Given the description of an element on the screen output the (x, y) to click on. 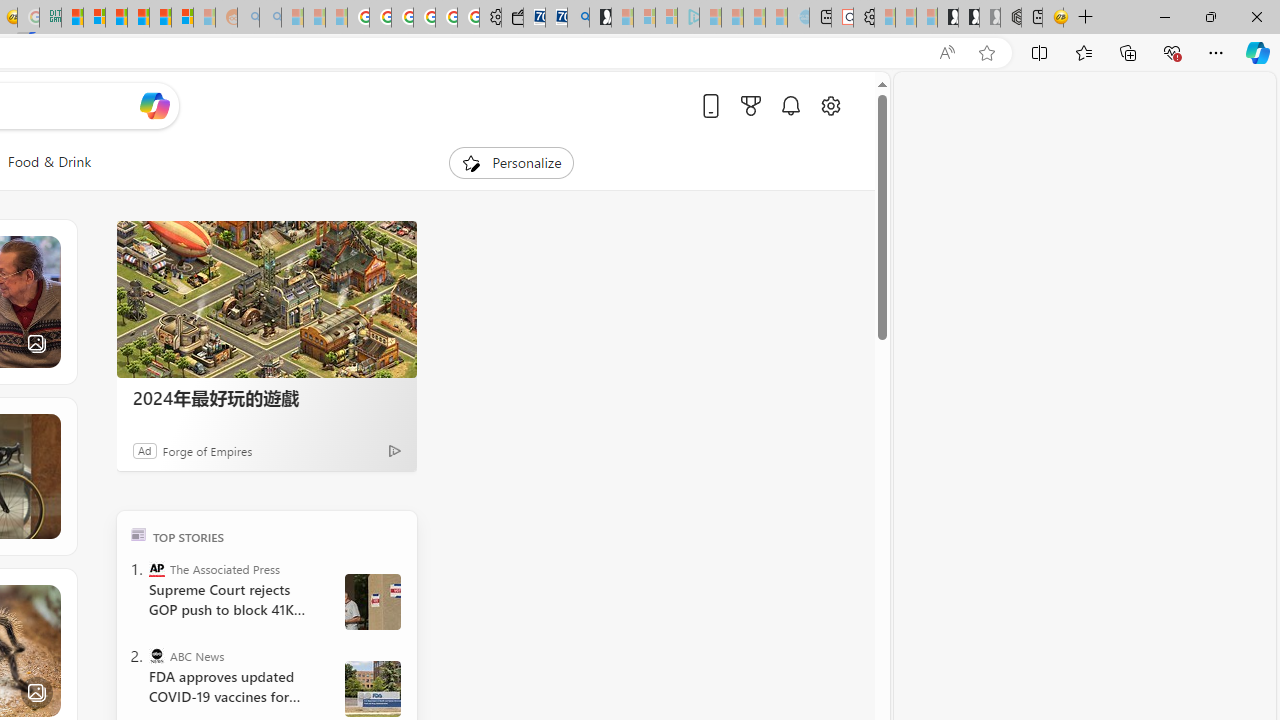
The Associated Press (156, 568)
TOP (138, 534)
Bing Real Estate - Home sales and rental listings (578, 17)
Forge of Empires (207, 450)
